Given the description of an element on the screen output the (x, y) to click on. 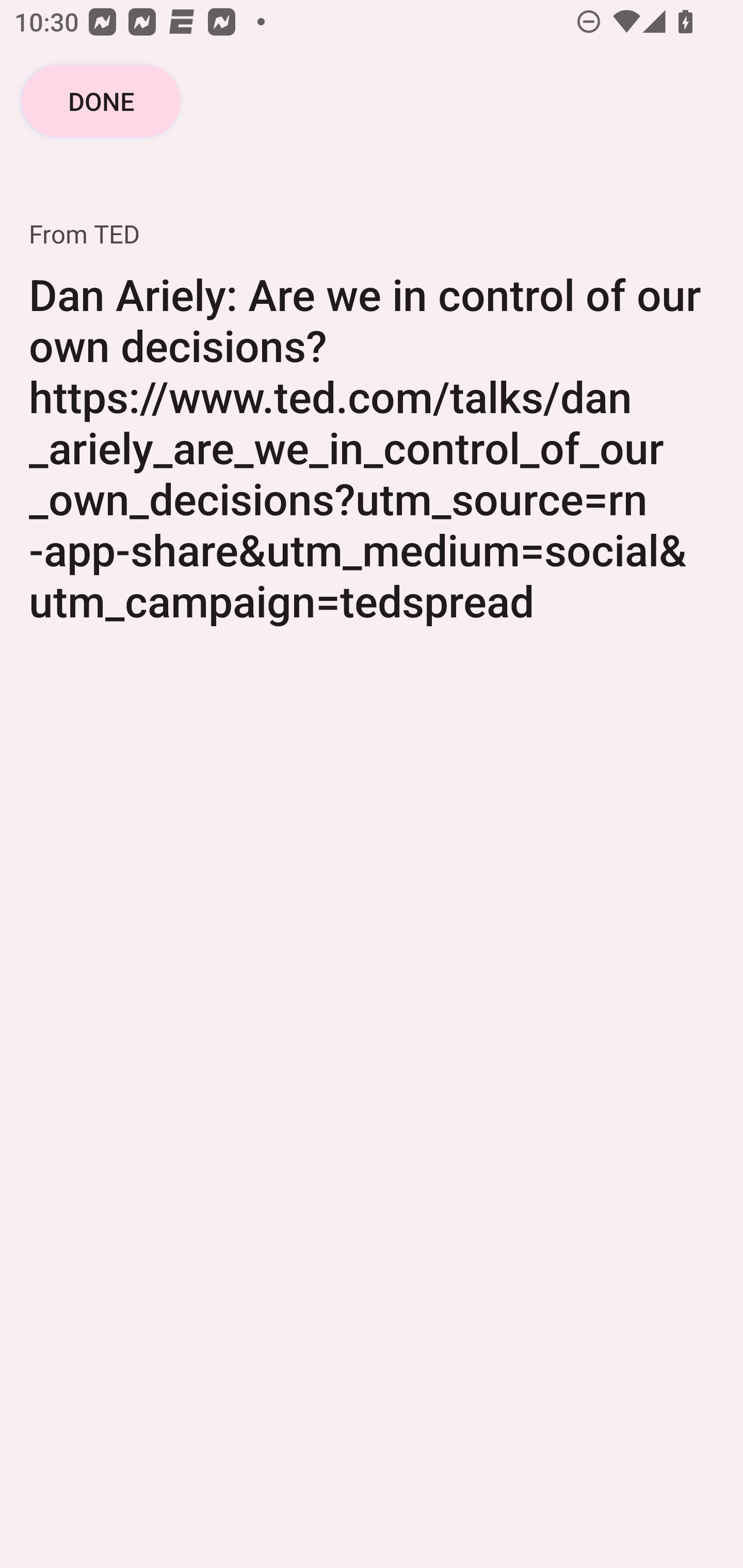
DONE (100, 101)
